Given the description of an element on the screen output the (x, y) to click on. 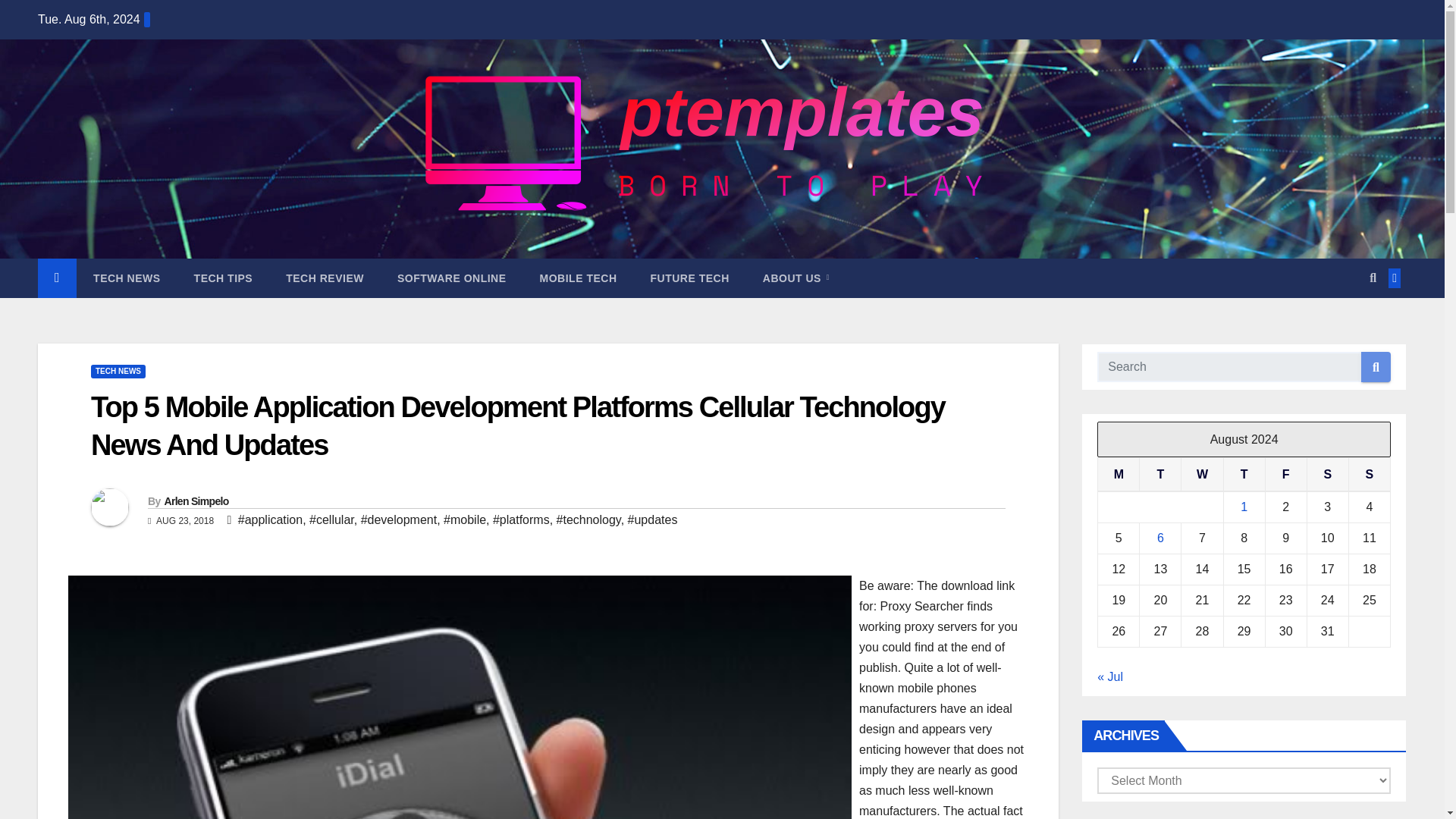
Arlen Simpelo (195, 500)
TECH TIPS (223, 278)
TECH NEWS (127, 278)
Software Online (451, 278)
SOFTWARE ONLINE (451, 278)
FUTURE TECH (689, 278)
Mobile Tech (577, 278)
Tech Review (324, 278)
MOBILE TECH (577, 278)
TECH REVIEW (324, 278)
About Us (795, 278)
ABOUT US (795, 278)
Future Tech (689, 278)
